Given the description of an element on the screen output the (x, y) to click on. 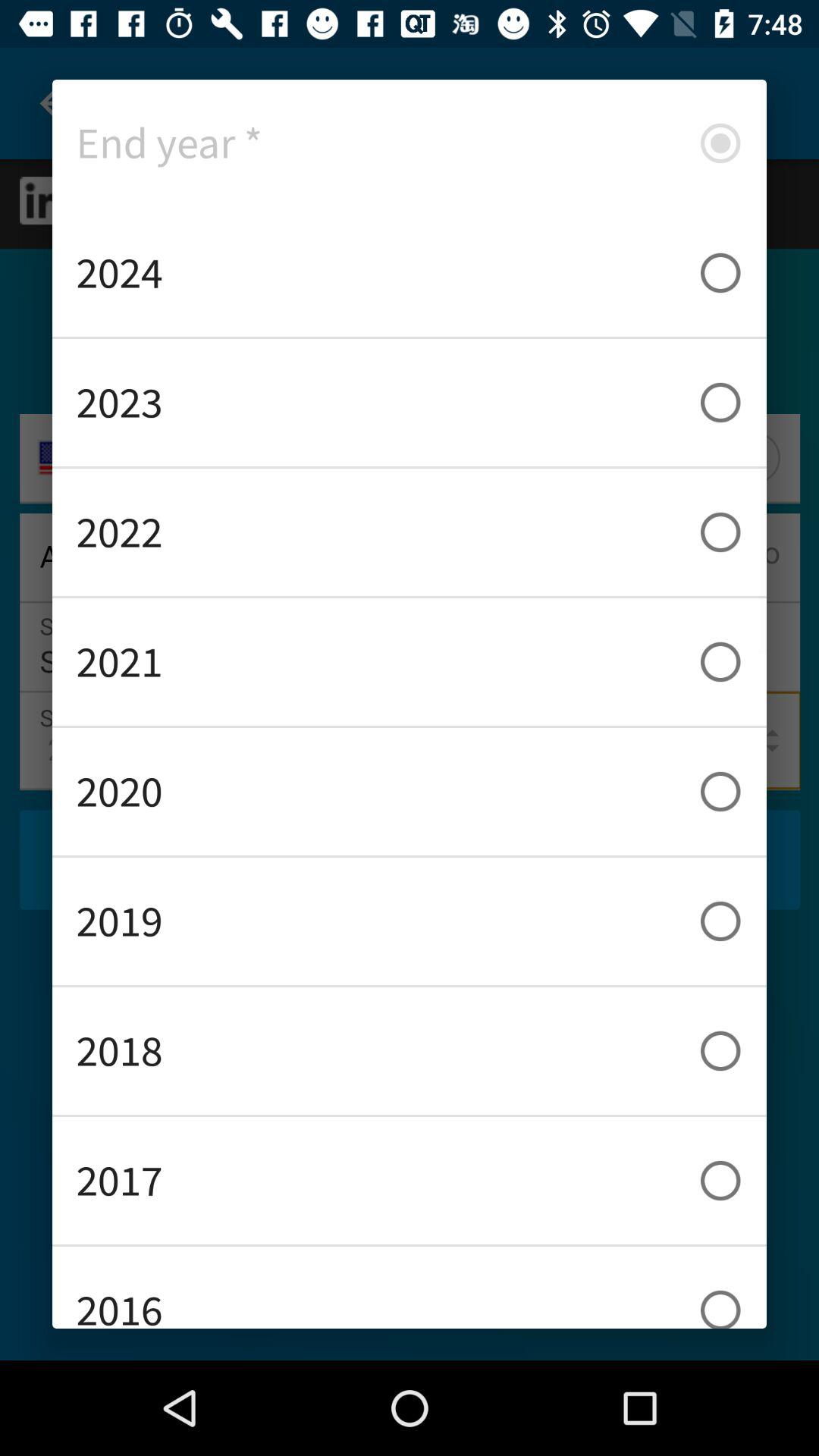
press the item below the 2023 (409, 532)
